Given the description of an element on the screen output the (x, y) to click on. 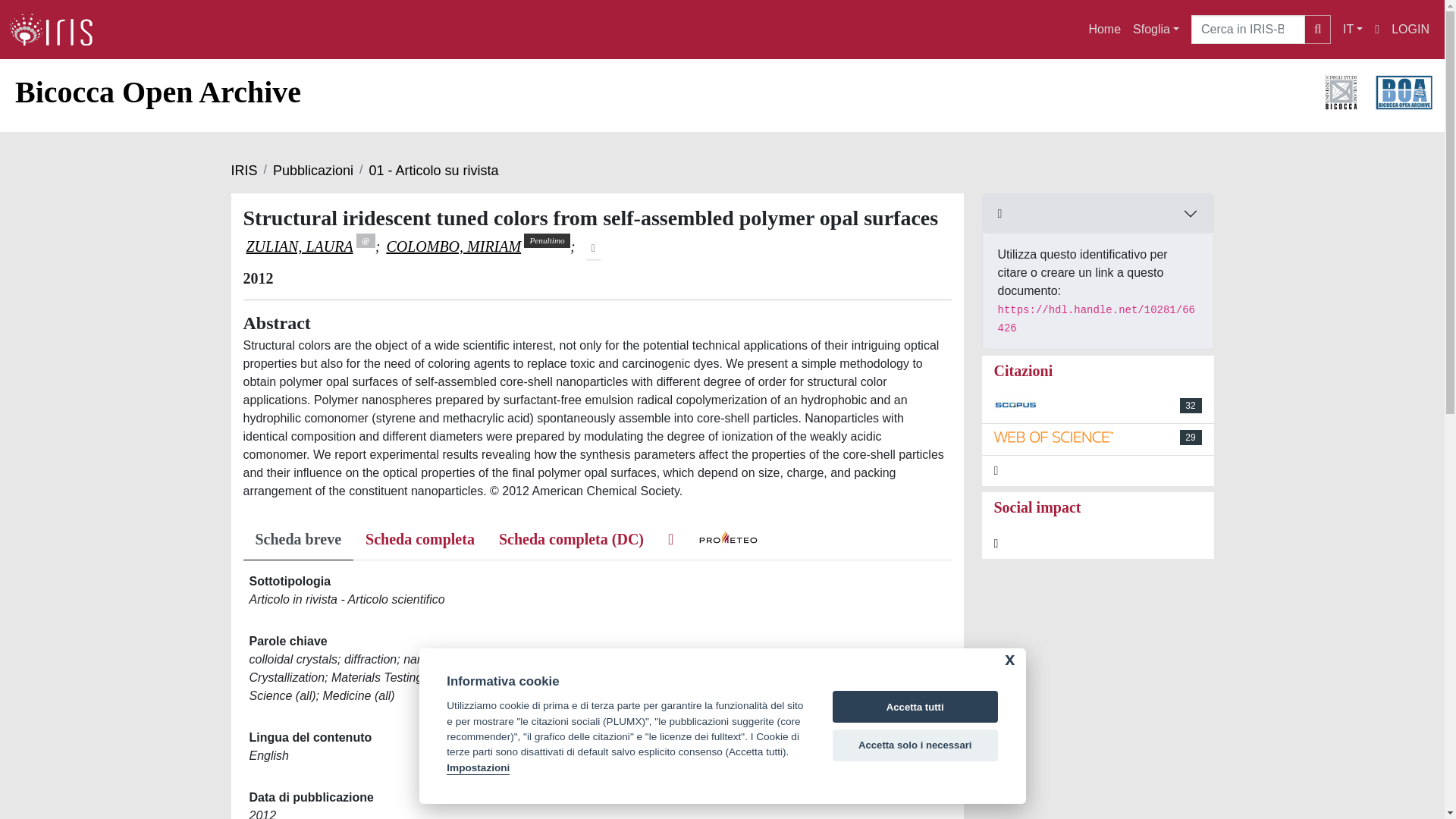
Scheda completa (419, 541)
Corresponding author (365, 240)
Home (1103, 29)
ZULIAN, LAURA (299, 246)
LOGIN (1410, 29)
Pubblicazioni (313, 170)
01 - Articolo su rivista (432, 170)
mostra contributor esterni (593, 248)
IRIS (243, 170)
aggiornato in data 14-07-2024 17:10 (1190, 405)
Aiuto (1376, 29)
Sfoglia (1155, 29)
COLOMBO, MIRIAM (453, 246)
IT (1352, 29)
